Given the description of an element on the screen output the (x, y) to click on. 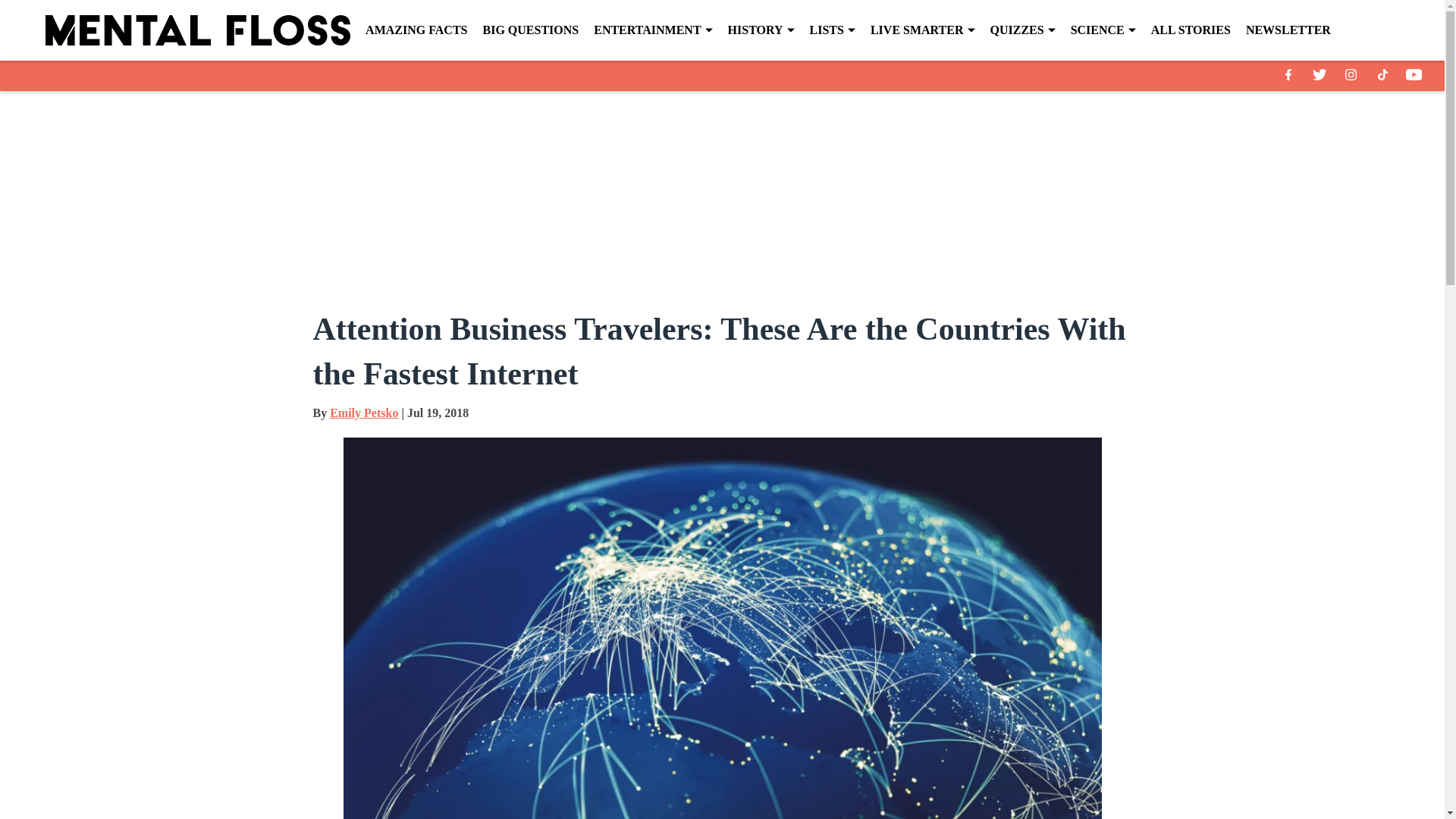
AMAZING FACTS (416, 30)
ALL STORIES (1190, 30)
BIG QUESTIONS (529, 30)
NEWSLETTER (1288, 30)
